Given the description of an element on the screen output the (x, y) to click on. 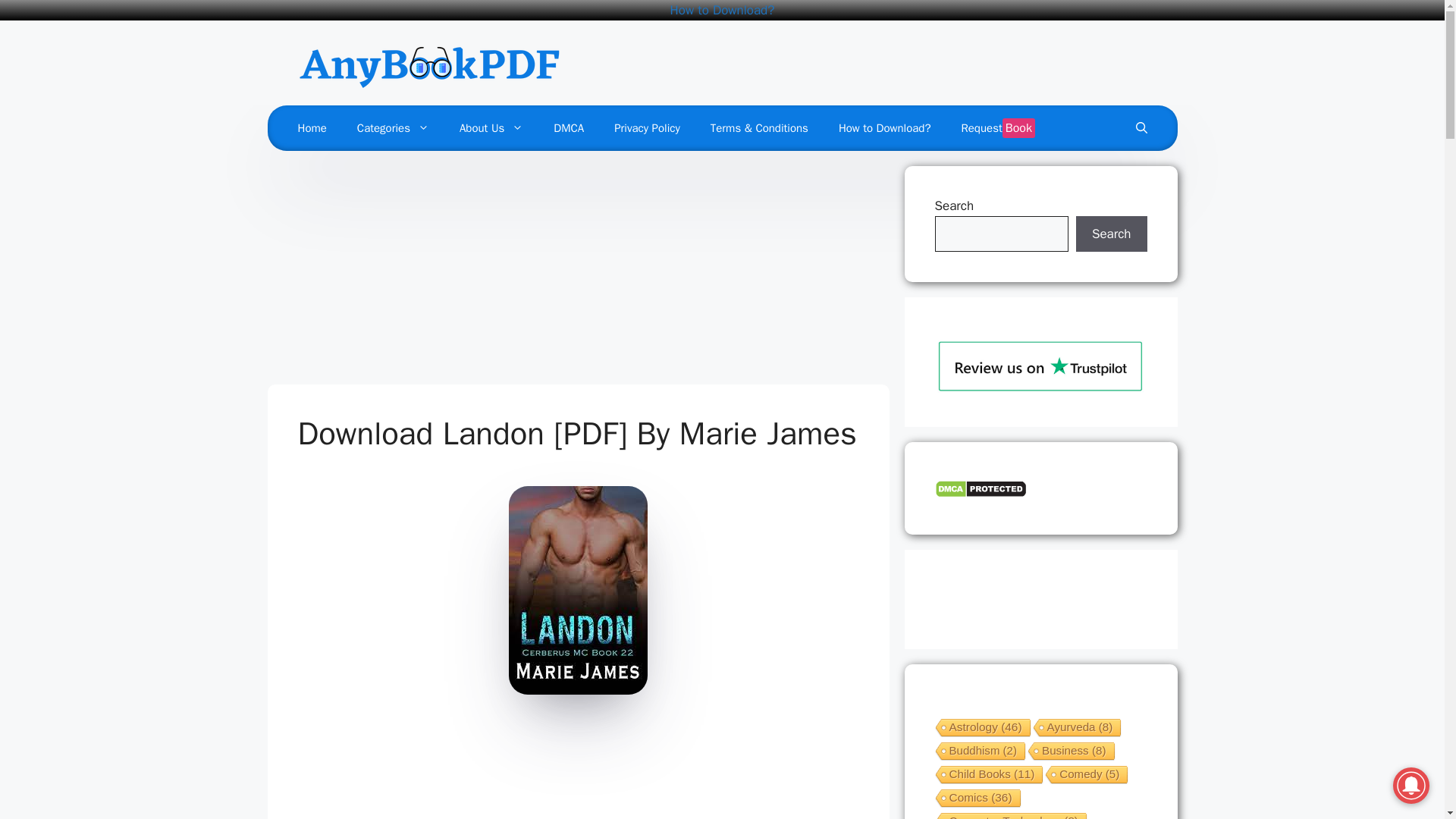
Categories (393, 127)
Advertisement (578, 272)
DMCA.com Protection Status (980, 494)
How to Download? (721, 10)
Advertisement (572, 769)
Home (311, 127)
About Us (491, 127)
